Given the description of an element on the screen output the (x, y) to click on. 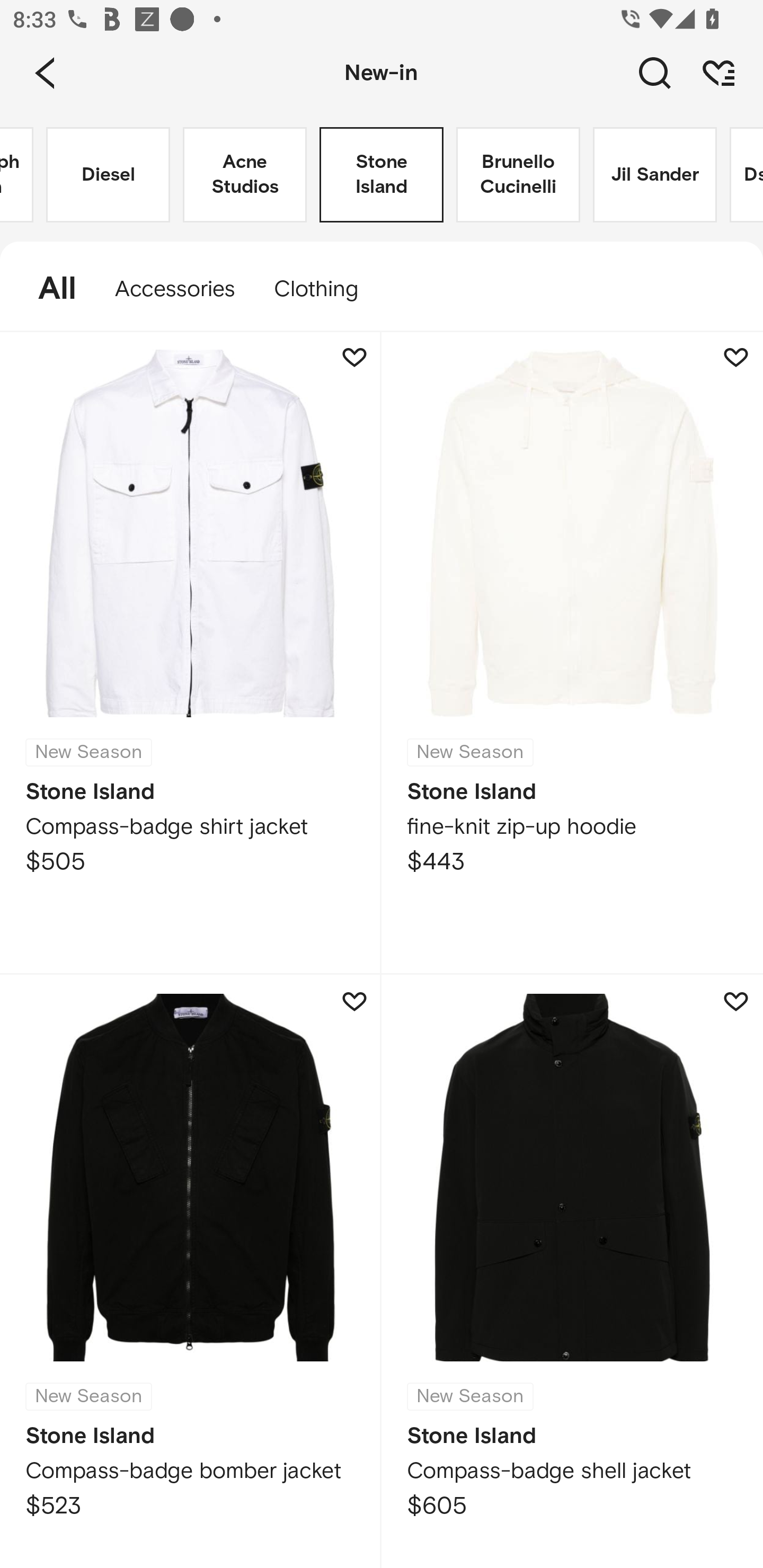
Diesel (107, 174)
Acne Studios (244, 174)
Stone Island (381, 174)
Brunello Cucinelli (517, 174)
Jil Sander (654, 174)
All (47, 288)
Accessories (174, 288)
Clothing (324, 288)
